Given the description of an element on the screen output the (x, y) to click on. 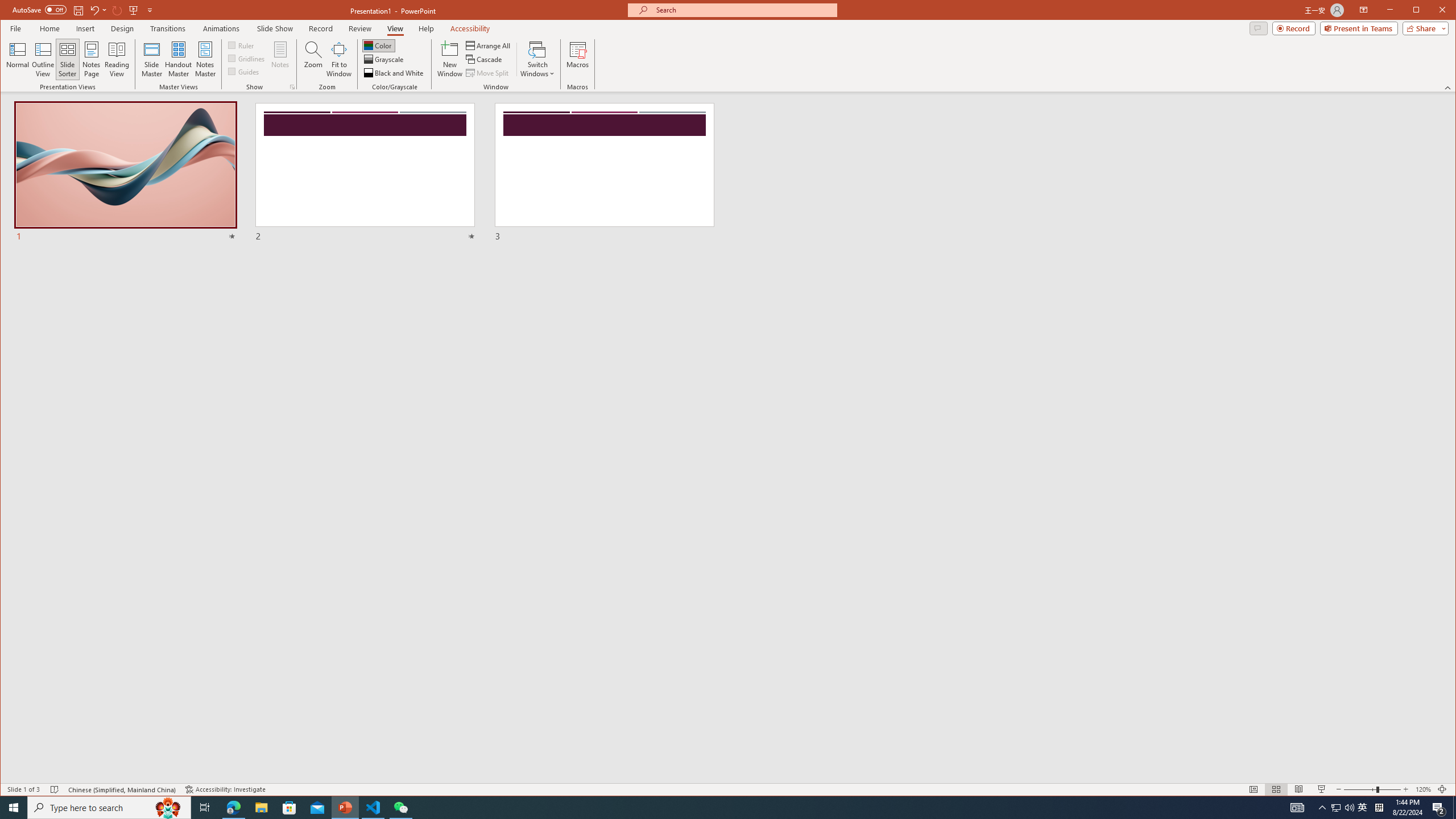
Grid Settings... (292, 86)
